Given the description of an element on the screen output the (x, y) to click on. 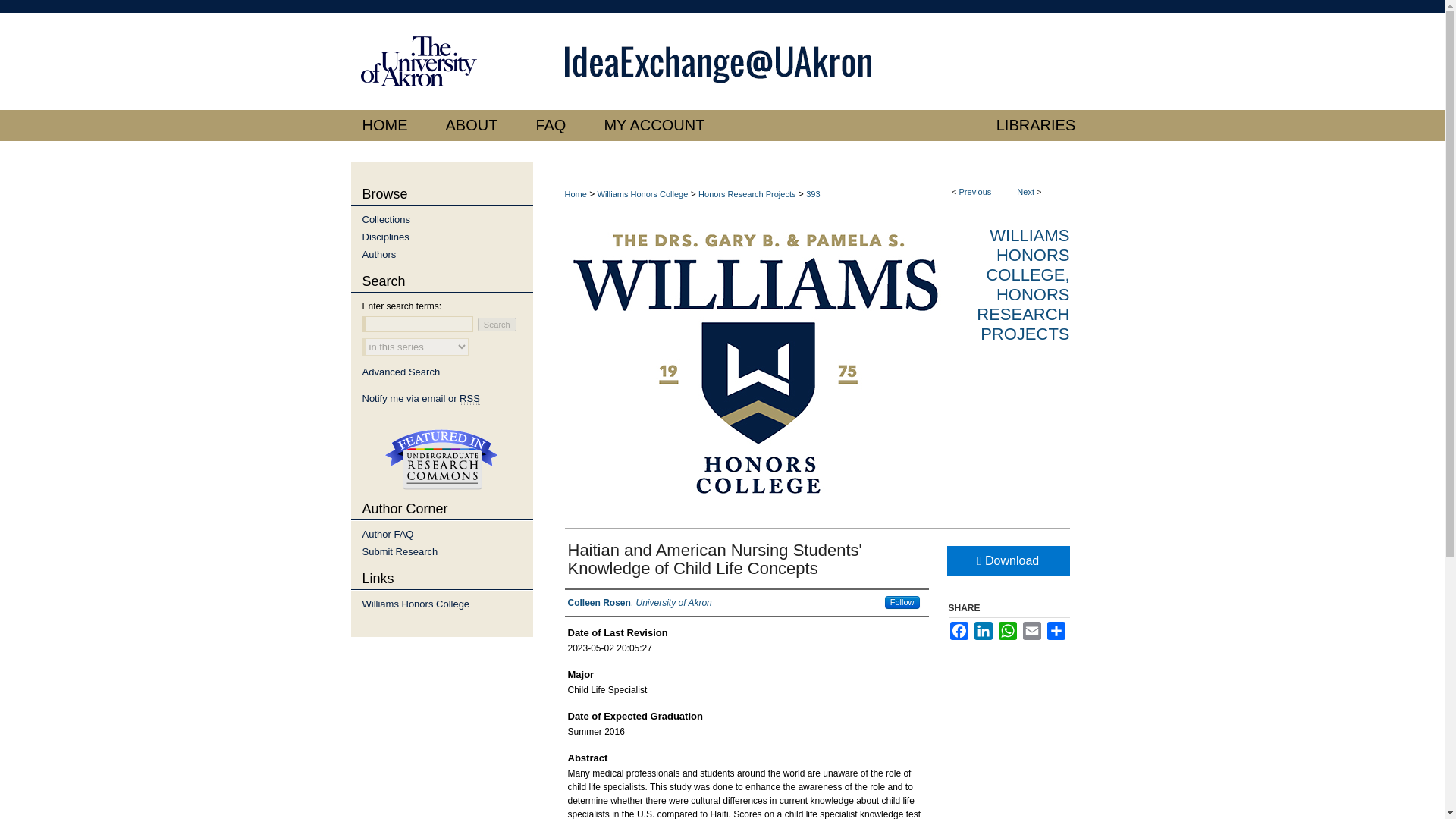
Williams Honors College (642, 194)
Browse by Disciplines (447, 236)
HOME (388, 124)
Advanced Search (401, 371)
Honors Research Projects (746, 194)
Follow Colleen Rosen (902, 602)
Search (496, 324)
Next (1024, 191)
Search (496, 324)
Colleen Rosen, University of Akron (639, 602)
Email (1031, 630)
Facebook (958, 630)
FAQ (550, 124)
Collections (447, 219)
393 (812, 194)
